Given the description of an element on the screen output the (x, y) to click on. 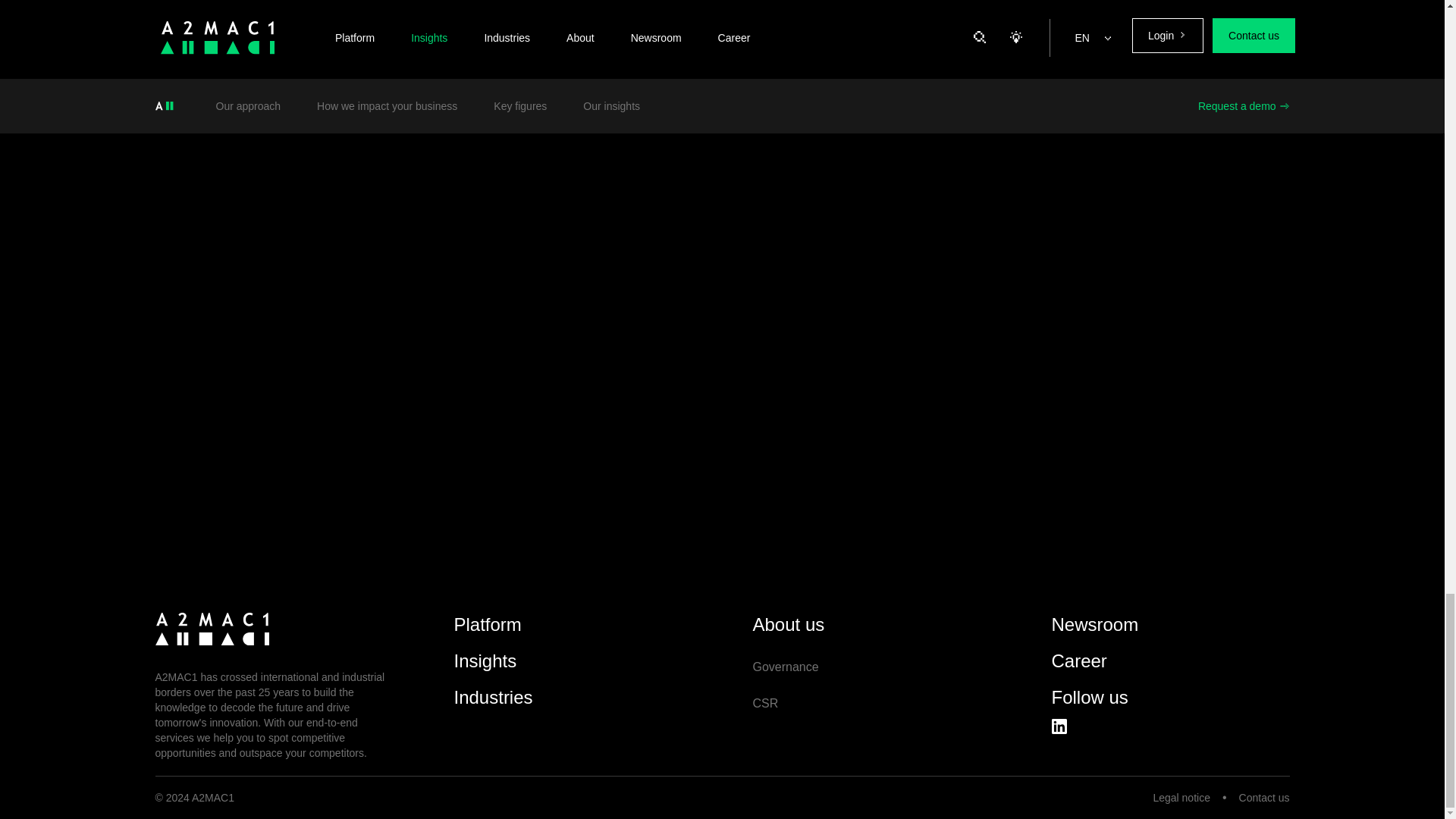
Industries (492, 703)
Newsroom (1094, 630)
About us (788, 630)
Platform (486, 630)
Insights (484, 667)
A2MAC1 (210, 628)
Governance (785, 667)
